Given the description of an element on the screen output the (x, y) to click on. 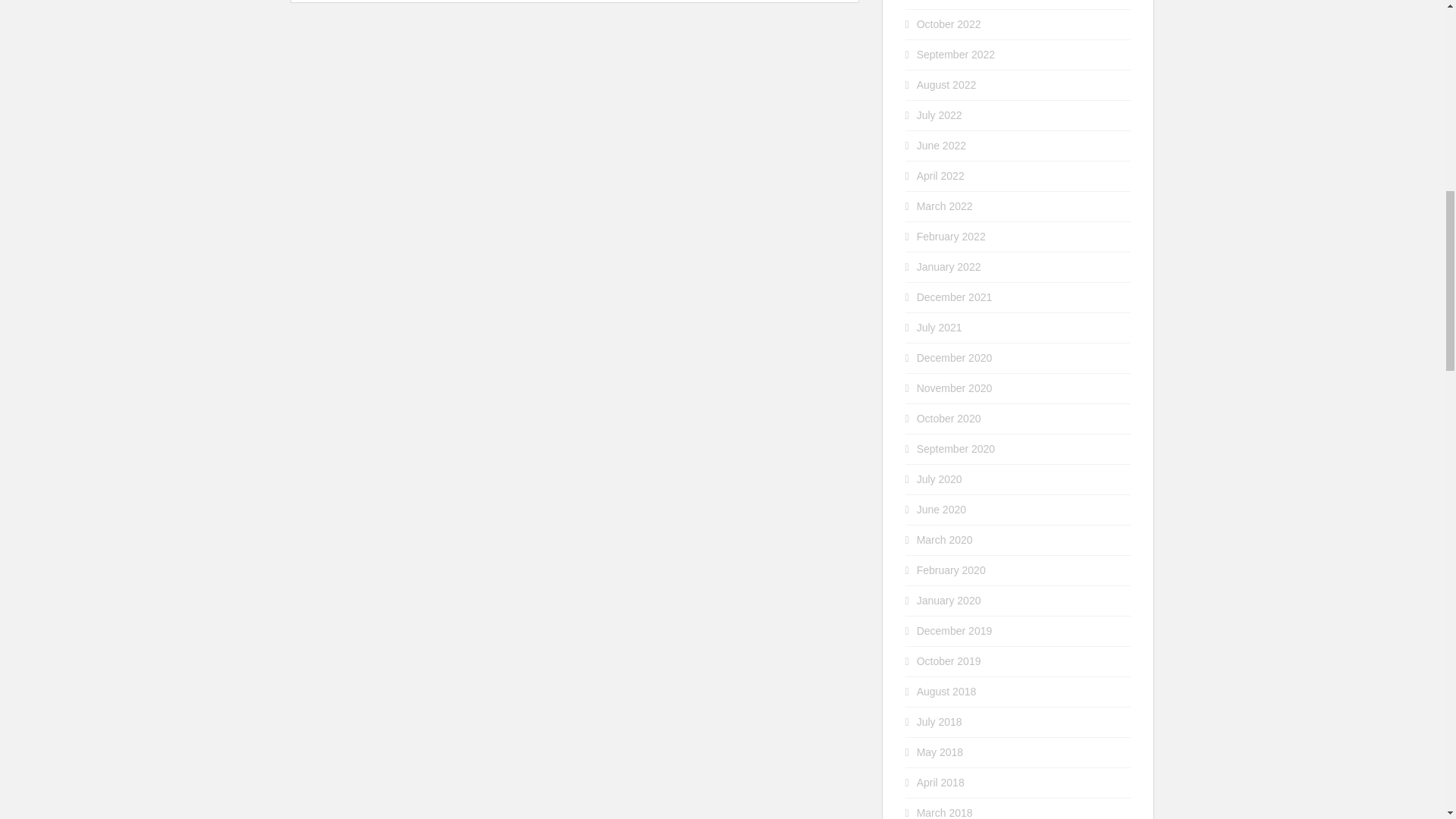
June 2022 (941, 145)
October 2020 (949, 418)
April 2022 (940, 175)
March 2022 (944, 205)
December 2021 (954, 297)
September 2020 (956, 449)
October 2022 (949, 24)
February 2022 (951, 236)
August 2022 (946, 84)
September 2022 (956, 54)
January 2022 (949, 266)
July 2021 (939, 327)
July 2022 (939, 114)
December 2020 (954, 357)
November 2020 (954, 387)
